Given the description of an element on the screen output the (x, y) to click on. 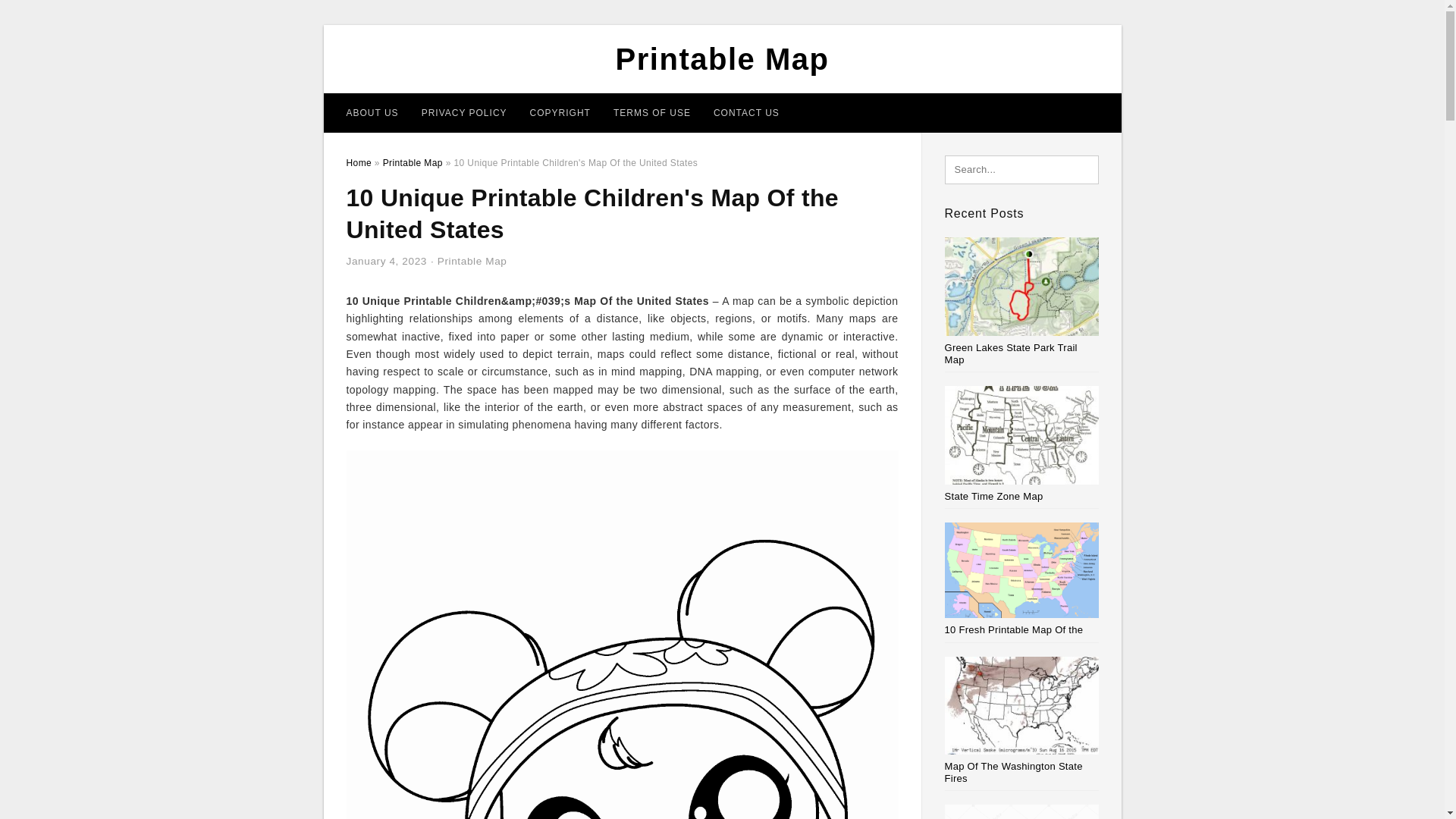
Printable Map (412, 163)
CONTACT US (745, 112)
Printable Map (722, 59)
Search (43, 15)
ABOUT US (372, 112)
COPYRIGHT (560, 112)
Printable Map (472, 260)
Home (358, 163)
